Given the description of an element on the screen output the (x, y) to click on. 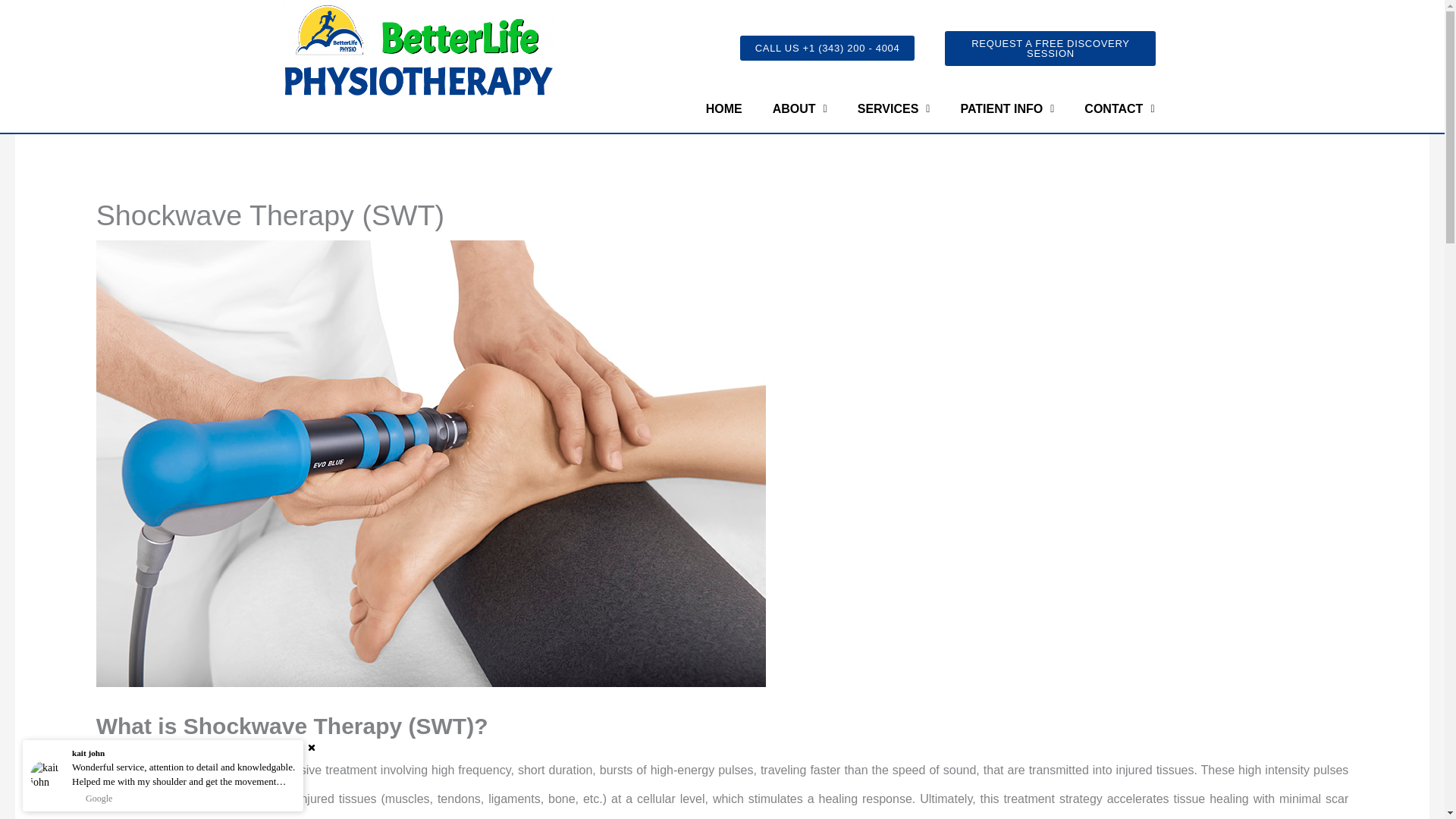
REQUEST A FREE DISCOVERY SESSION (1050, 48)
SERVICES (893, 109)
PATIENT INFO (1006, 109)
HOME (723, 109)
ABOUT (800, 109)
CONTACT (1118, 109)
